Given the description of an element on the screen output the (x, y) to click on. 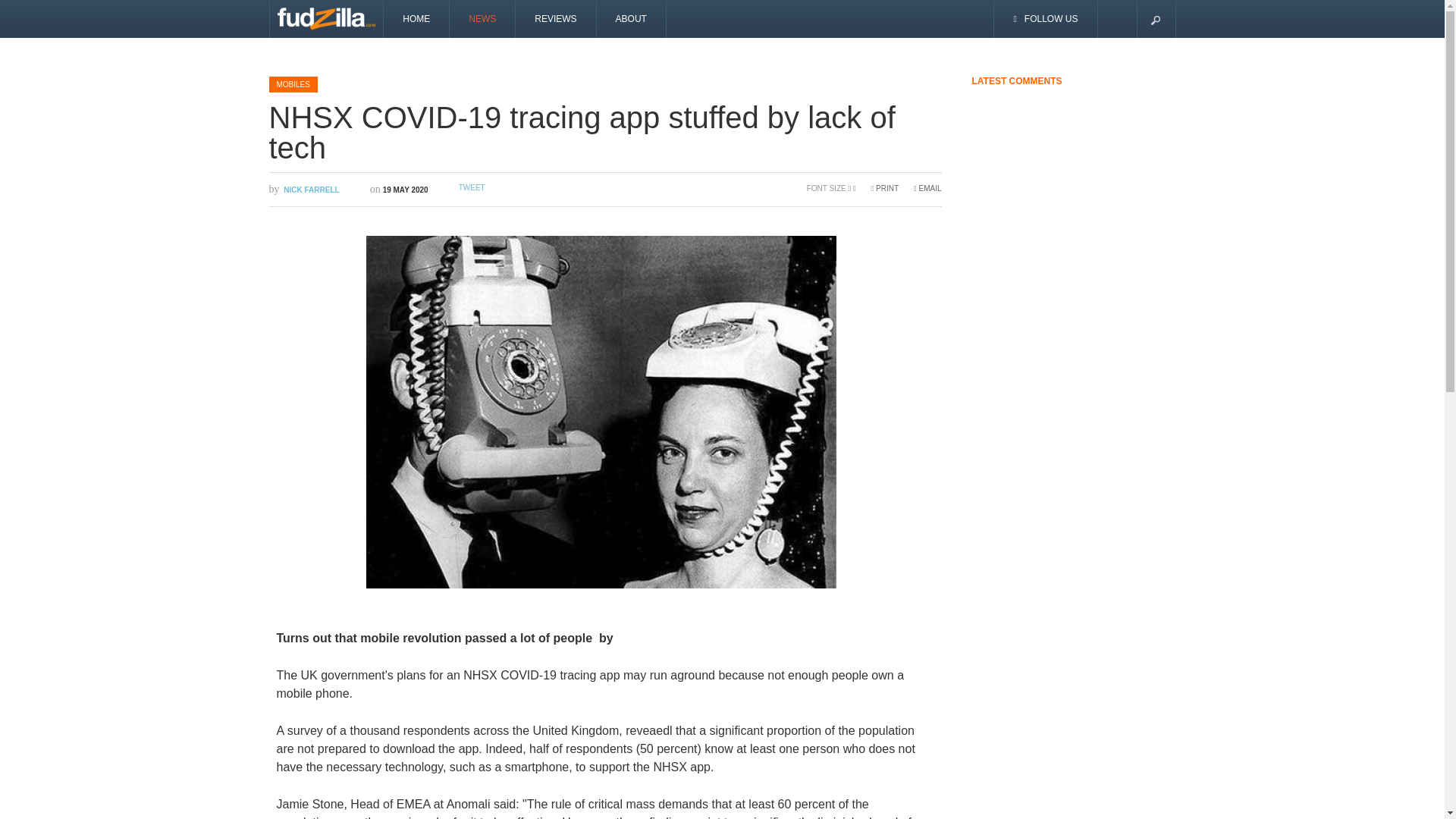
Fudzilla (326, 18)
REVIEWS (555, 18)
EMAIL (927, 188)
NICK FARRELL (311, 189)
PRINT (884, 188)
ABOUT (631, 18)
MOBILES (292, 84)
HOME (416, 18)
TWEET (471, 187)
NEWS (482, 18)
FOLLOW US (1045, 18)
